Given the description of an element on the screen output the (x, y) to click on. 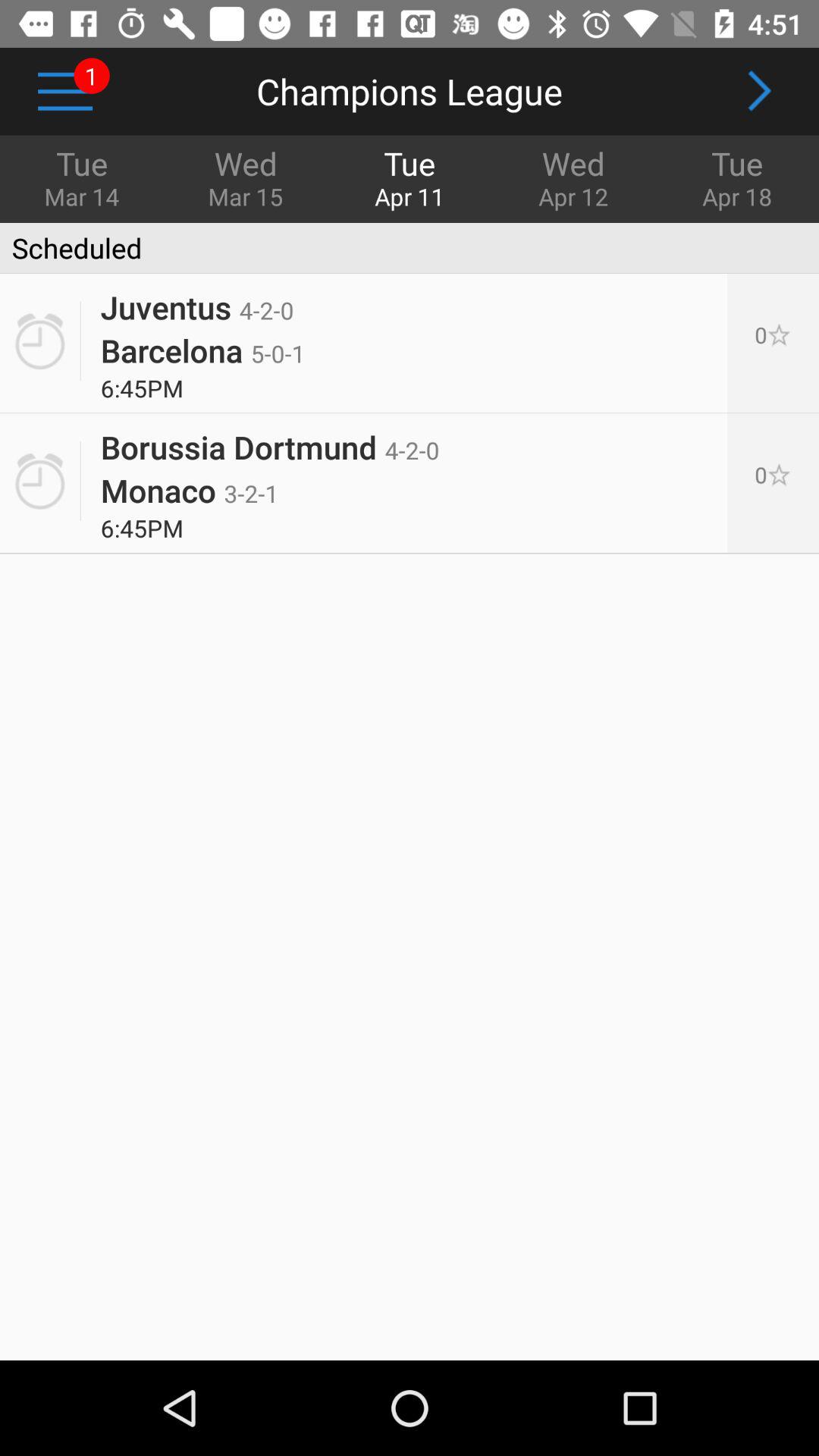
choose icon below 6:45pm item (269, 440)
